Given the description of an element on the screen output the (x, y) to click on. 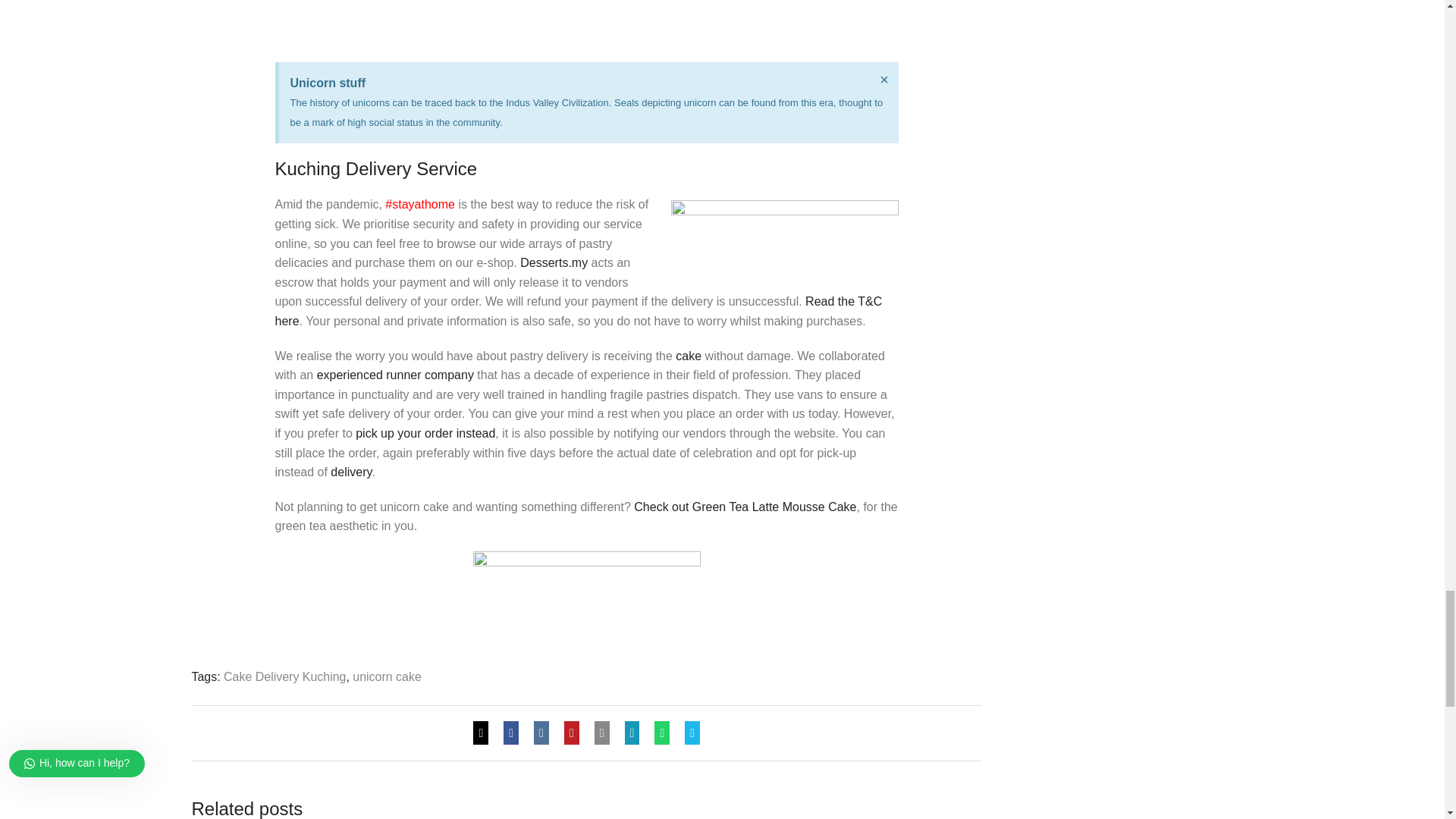
Twitter (484, 732)
linkedin (632, 732)
skype (688, 732)
Facebook (510, 732)
VK (540, 732)
Mail to friend (601, 732)
whatsapp (661, 732)
Pinterest (571, 732)
